Given the description of an element on the screen output the (x, y) to click on. 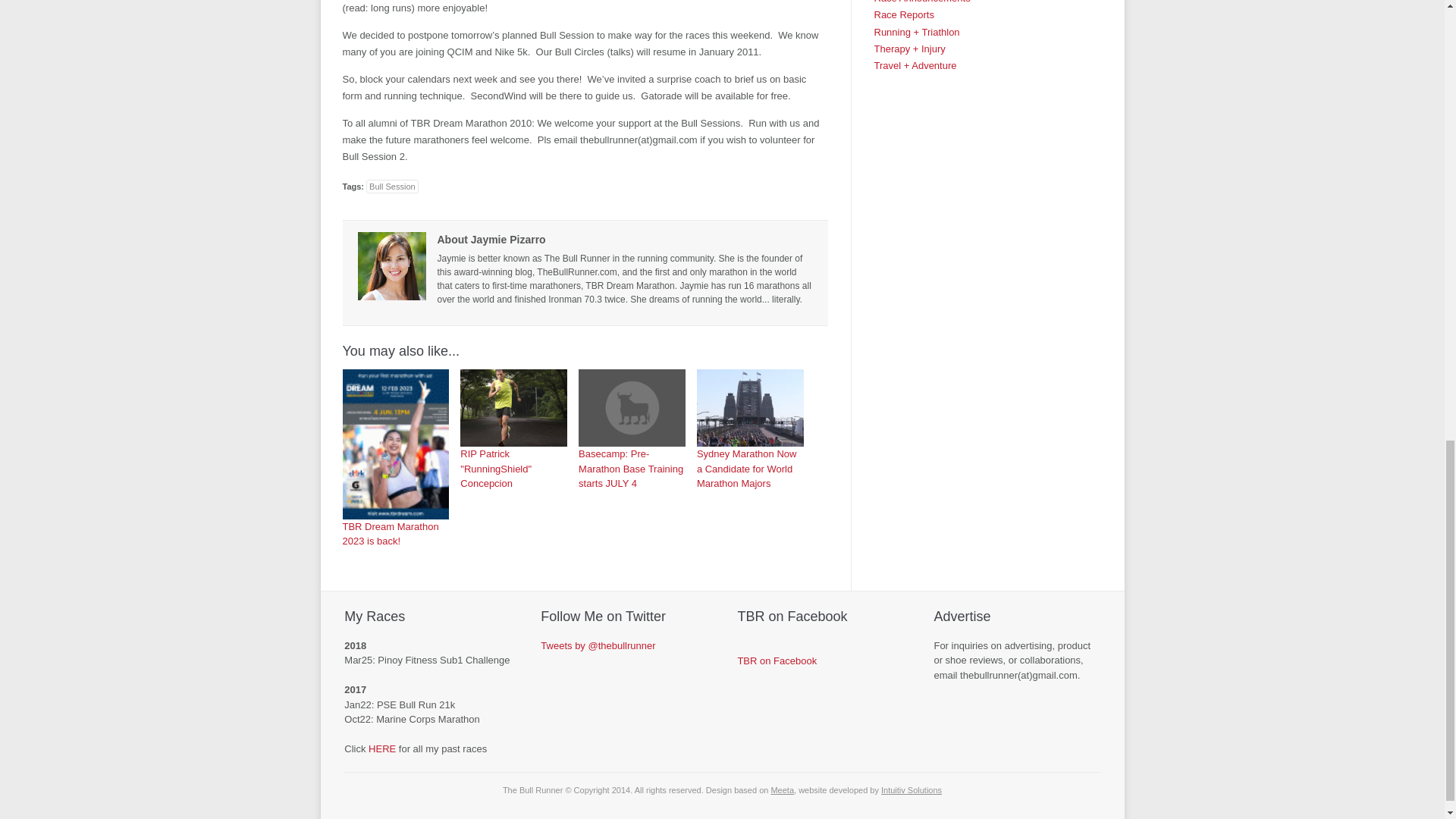
Sydney Marathon Now a Candidate for World Marathon Majors (750, 428)
Basecamp: Pre-Marathon Base Training starts JULY 4 (631, 428)
Bull Session (392, 186)
Past Races (382, 748)
Race Reports (903, 14)
RIP Patrick "RunningShield" Concepcion (513, 428)
Sydney Marathon Now a Candidate for World Marathon Majors (750, 407)
Basecamp: Pre-Marathon Base Training starts JULY 4 (631, 407)
RIP Patrick "RunningShield" Concepcion (513, 407)
HERE (382, 748)
